Given the description of an element on the screen output the (x, y) to click on. 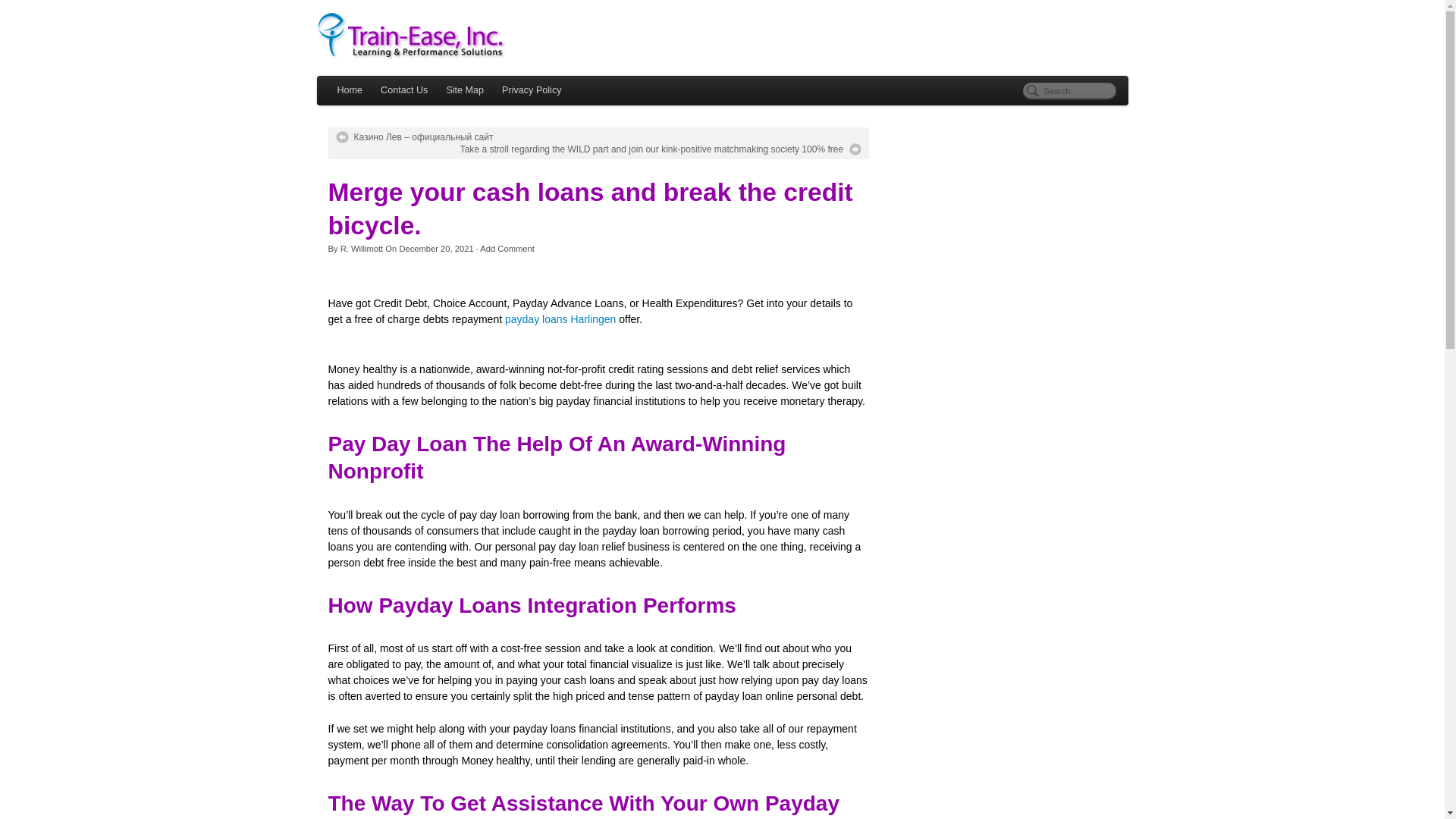
R. Willimott (362, 248)
Train-Ease, Inc (722, 35)
Privacy Policy (531, 90)
Posts by R. Willimott (362, 248)
Contact Us (403, 90)
Add Comment (507, 248)
payday loans Harlingen (560, 318)
Site Map (464, 90)
Home (349, 90)
